Given the description of an element on the screen output the (x, y) to click on. 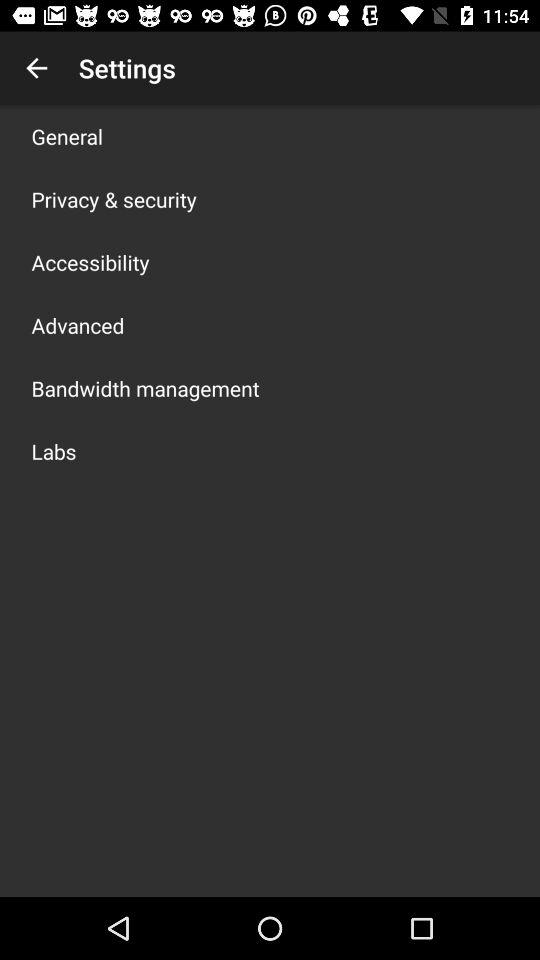
open the general (67, 136)
